Given the description of an element on the screen output the (x, y) to click on. 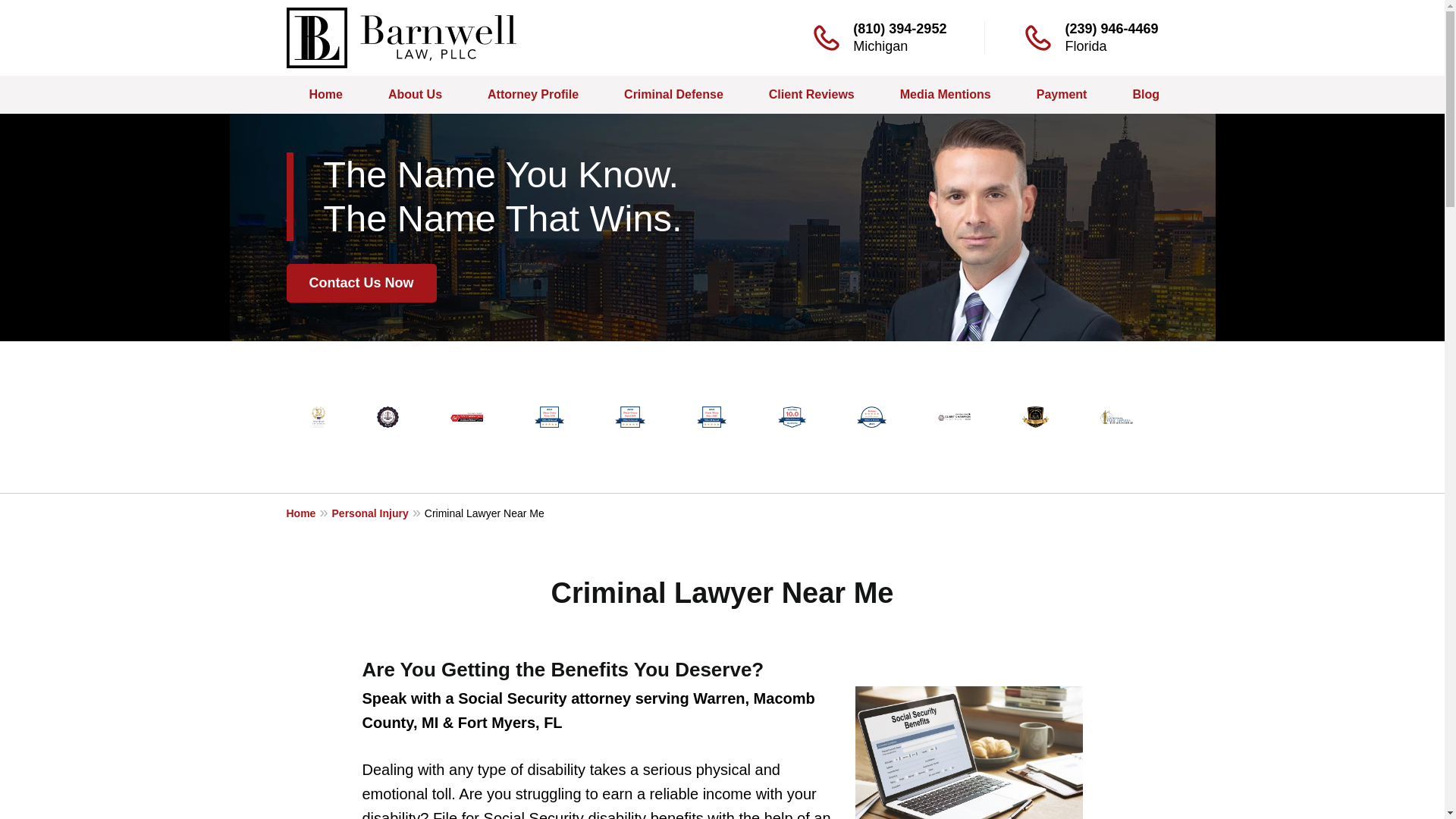
Contact Us Now (361, 283)
Payment (1061, 94)
Criminal Defense (673, 94)
Courts (1224, 94)
Media Mentions (945, 94)
About Us (414, 94)
Client Reviews (811, 94)
Personal Injury (378, 513)
Home (308, 513)
Attorney Profile (532, 94)
Home (325, 94)
Blog (1145, 94)
Contact Us (1320, 94)
